Given the description of an element on the screen output the (x, y) to click on. 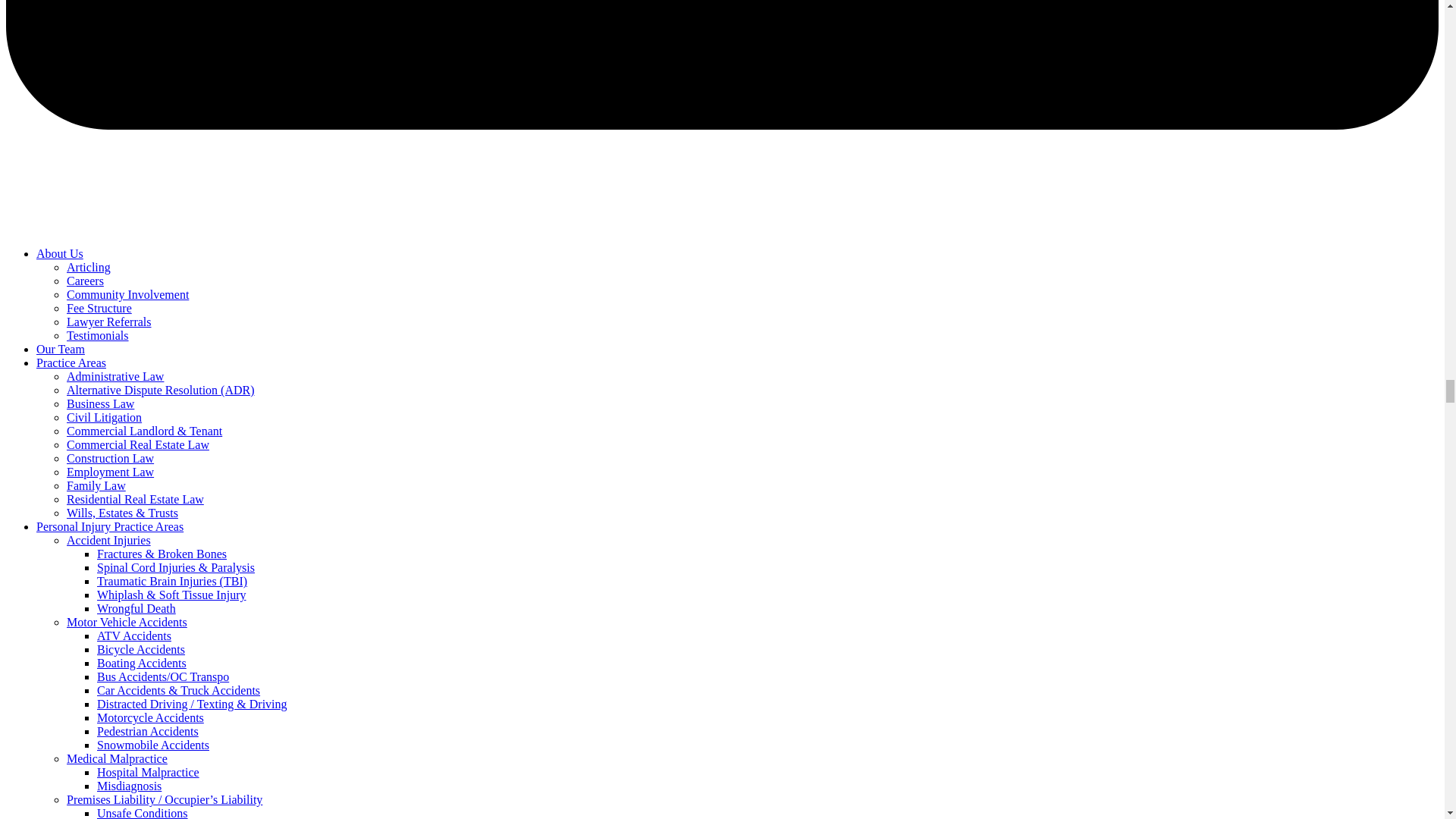
Business Law (99, 403)
Commercial Real Estate Law (137, 444)
Our Team (60, 349)
Testimonials (97, 335)
Family Law (95, 485)
Civil Litigation (103, 417)
Personal Injury Practice Areas (109, 526)
Accident Injuries (108, 540)
Fee Structure (99, 308)
Articling (88, 267)
